Given the description of an element on the screen output the (x, y) to click on. 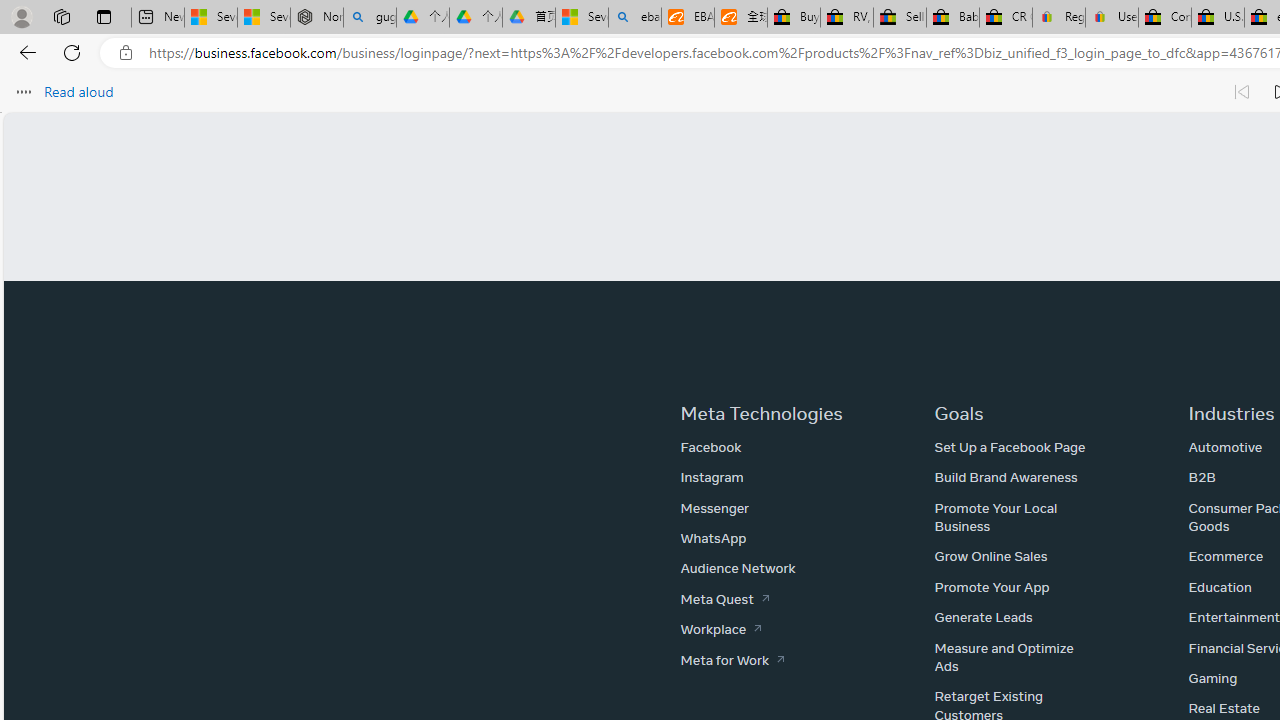
Read previous paragraph (1241, 92)
